Given the description of an element on the screen output the (x, y) to click on. 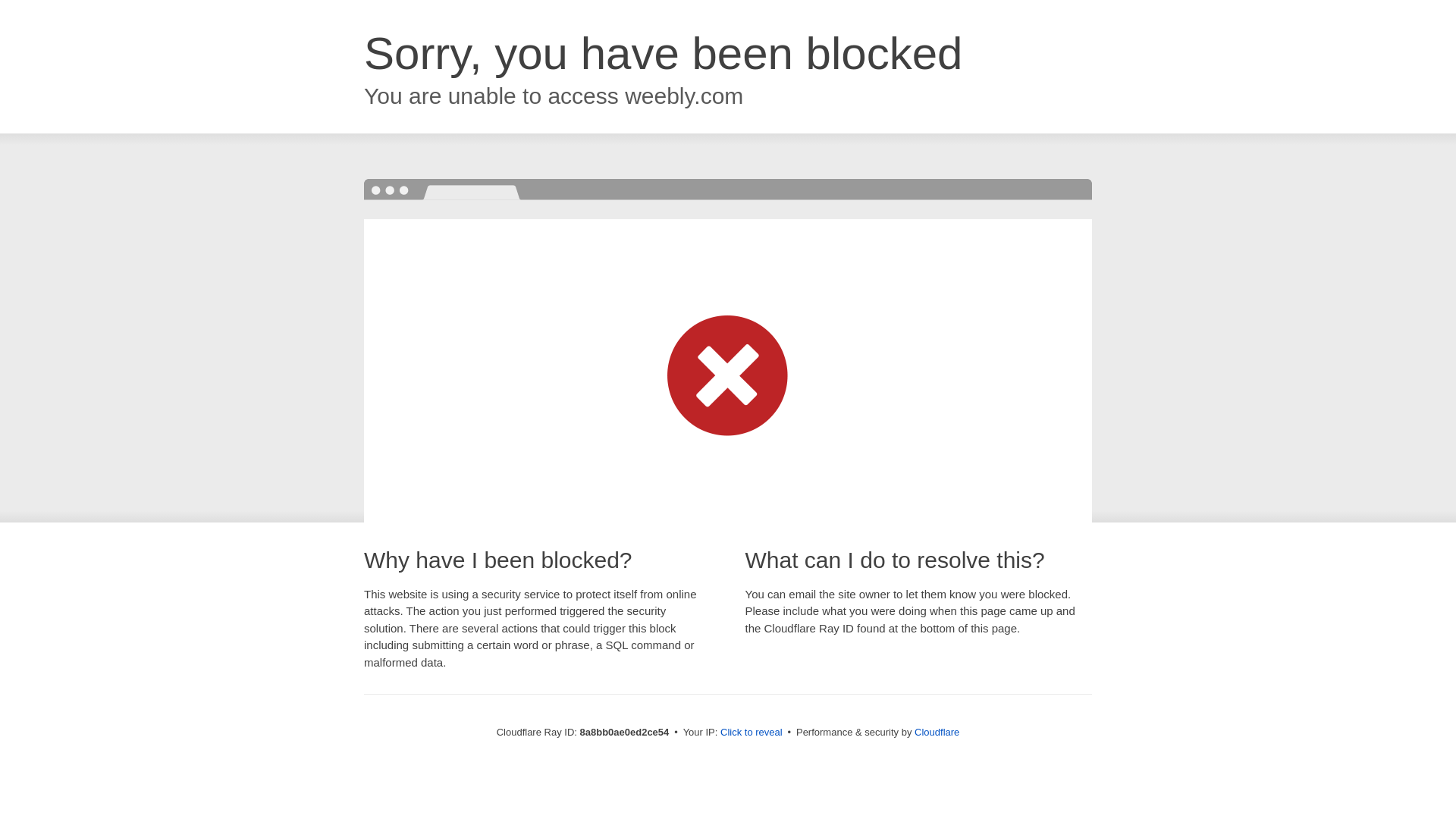
Click to reveal (751, 732)
Cloudflare (936, 731)
